Given the description of an element on the screen output the (x, y) to click on. 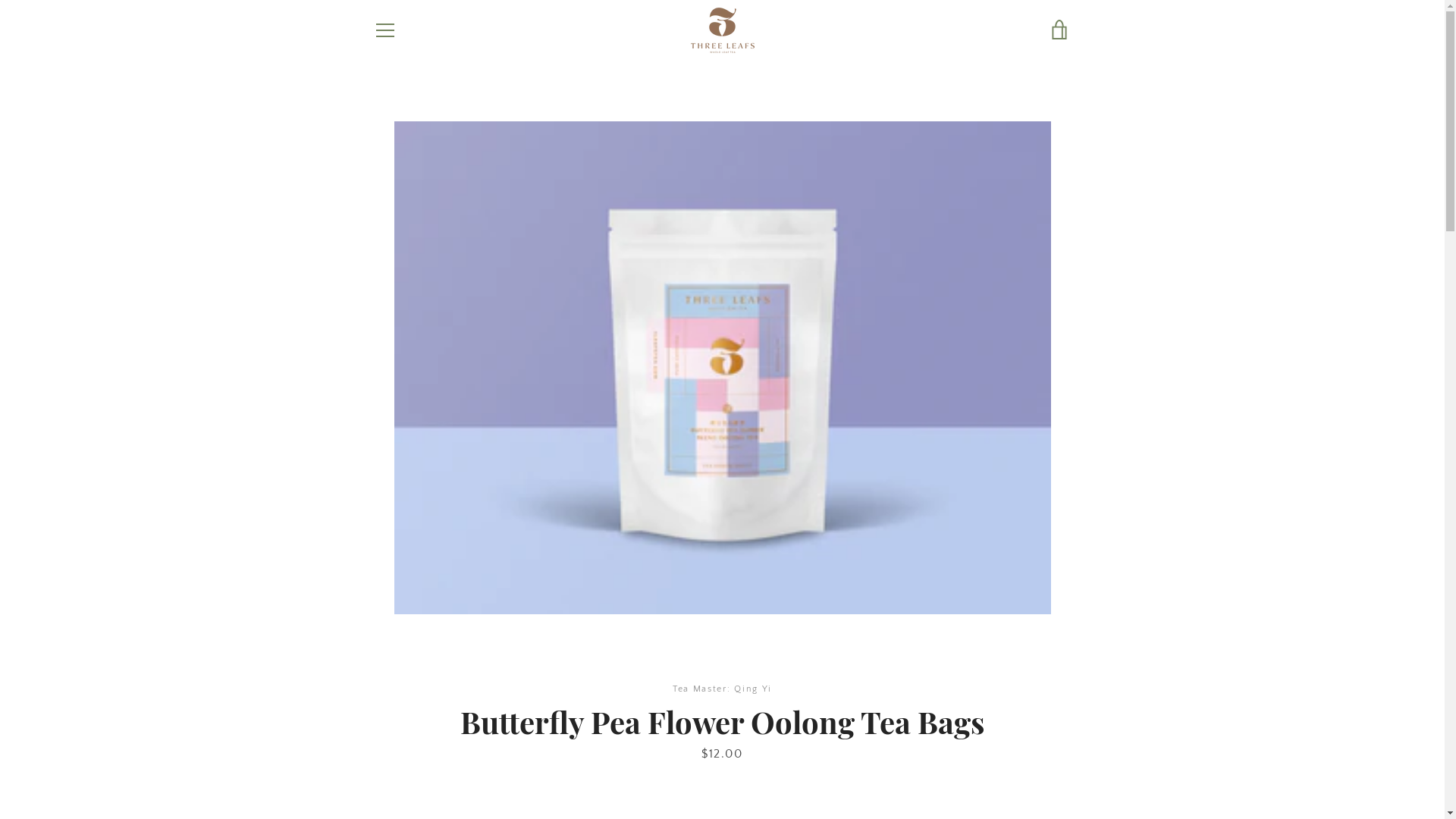
Facebook Element type: text (372, 768)
RETAIL LOCATIONS Element type: text (604, 614)
Instagram Element type: text (424, 768)
TEA Element type: text (381, 614)
HOME Element type: text (387, 591)
Pinterest Element type: text (398, 768)
TEAWARE Element type: text (396, 636)
Three Leafs Tea Element type: text (733, 759)
ABOUT US Element type: text (583, 569)
TEA WORKSHOP Element type: text (411, 658)
VIEW CART Element type: text (1059, 30)
SUBSCRIBE Element type: text (1034, 638)
MENU Element type: text (384, 30)
Skip to content Element type: text (0, 0)
ABOUT Element type: text (389, 704)
Powered by Shopify Element type: text (765, 769)
SEARCH Element type: text (578, 636)
EXPLORE Element type: text (393, 681)
B2B SERVICES Element type: text (592, 591)
